Given the description of an element on the screen output the (x, y) to click on. 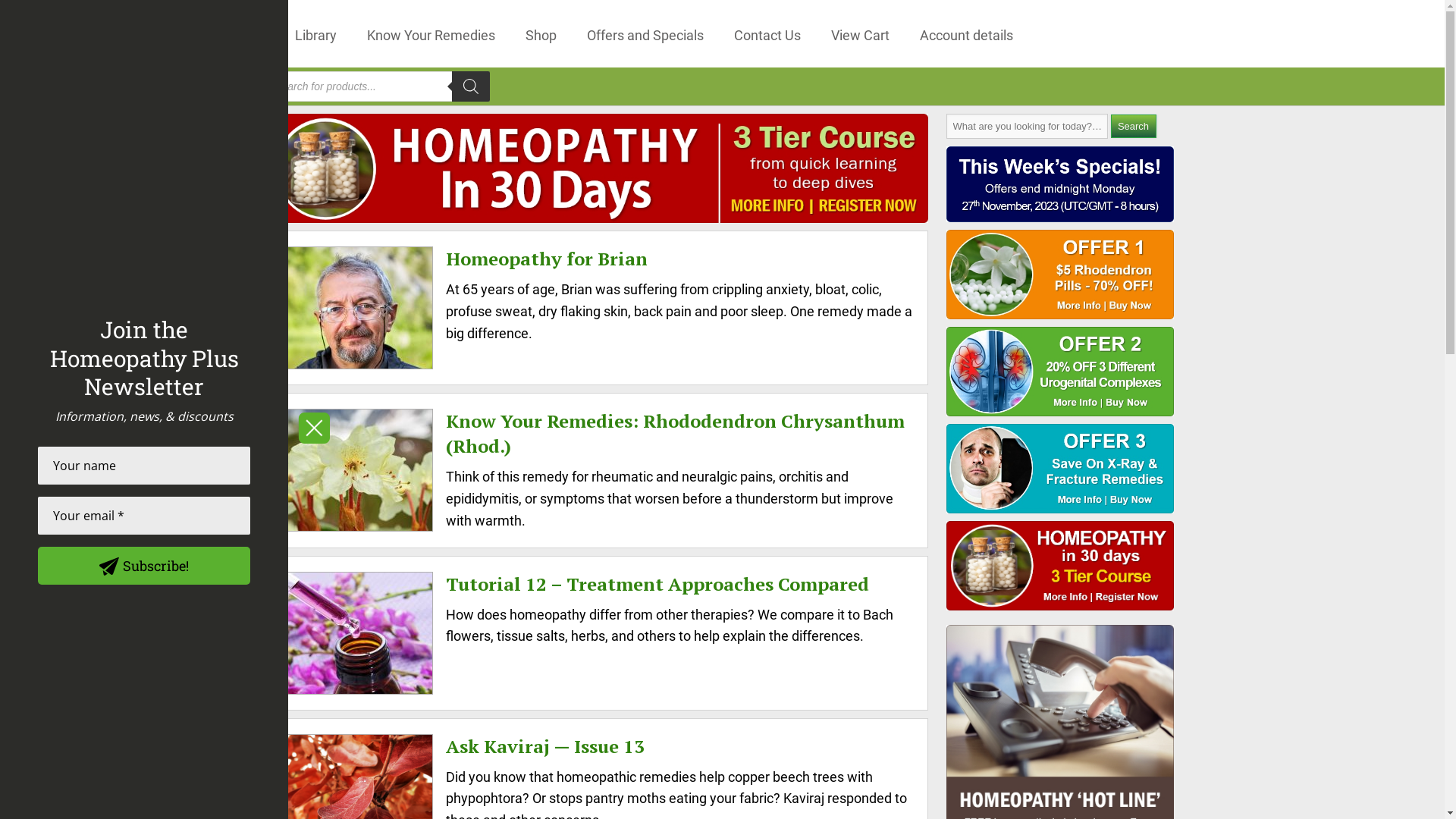
View Cart Element type: text (859, 33)
Offers and Specials Element type: text (644, 33)
Know Your Remedies: Rhododendron Chrysanthum (Rhod.) Element type: text (674, 433)
Search Element type: text (1132, 126)
Account details Element type: text (966, 33)
Homeopathy for Brian Element type: text (546, 258)
Library Element type: text (315, 33)
Home Element type: text (245, 33)
Know Your Remedies Element type: text (430, 33)
Contact Us Element type: text (766, 33)
brian Homeopathy for Brian Element type: hover (356, 307)
Shop Element type: text (540, 33)
